Given the description of an element on the screen output the (x, y) to click on. 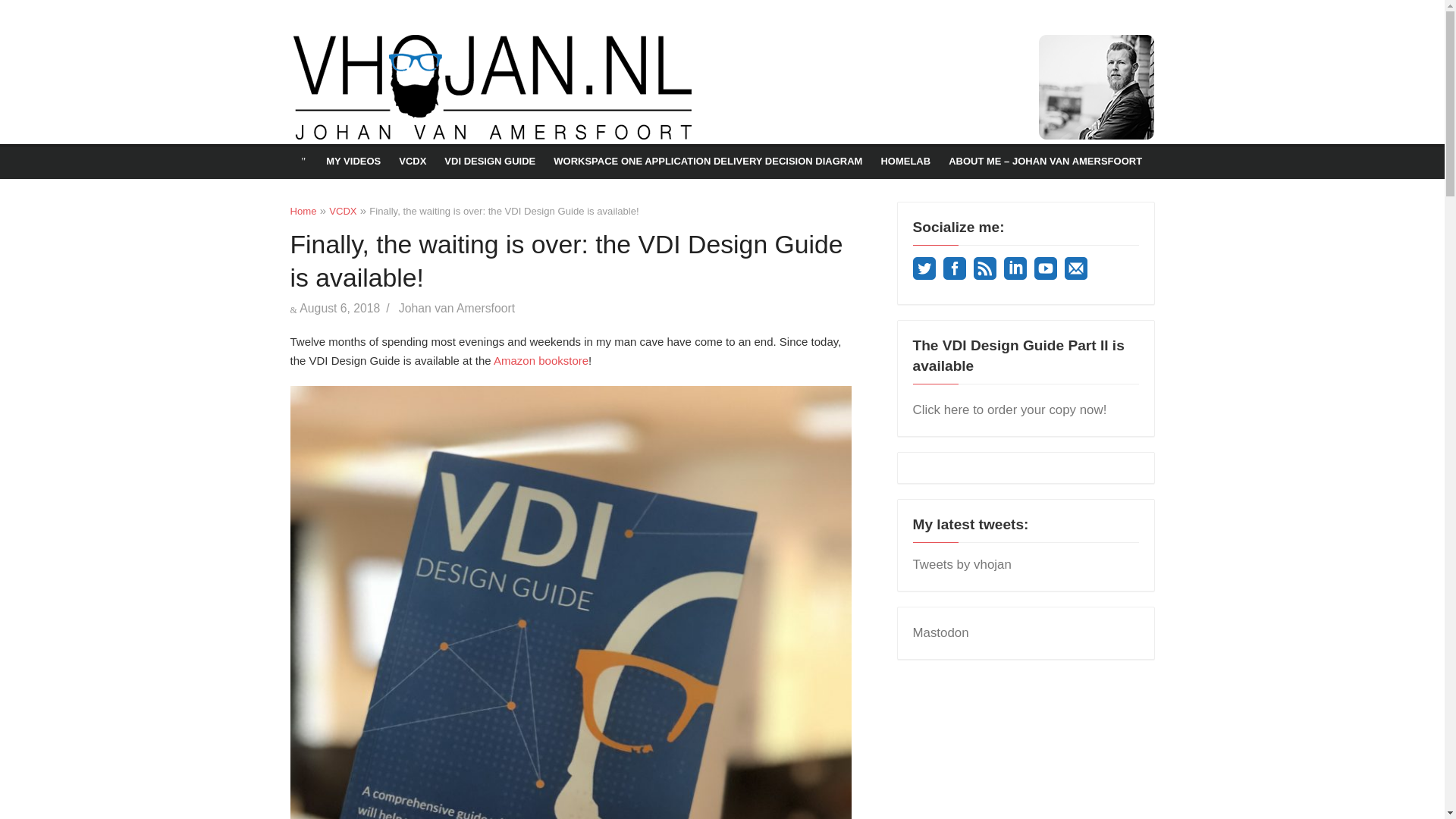
VDI DESIGN GUIDE (489, 161)
August 6, 2018 (339, 308)
WORKSPACE ONE APPLICATION DELIVERY DECISION DIAGRAM (707, 161)
VCDX (342, 211)
Home (302, 211)
MY VIDEOS (353, 161)
HOMELAB (904, 161)
Amazon bookstore (540, 359)
vHojan.nl (340, 28)
VCDX (412, 161)
Johan van Amersfoort (456, 308)
